Given the description of an element on the screen output the (x, y) to click on. 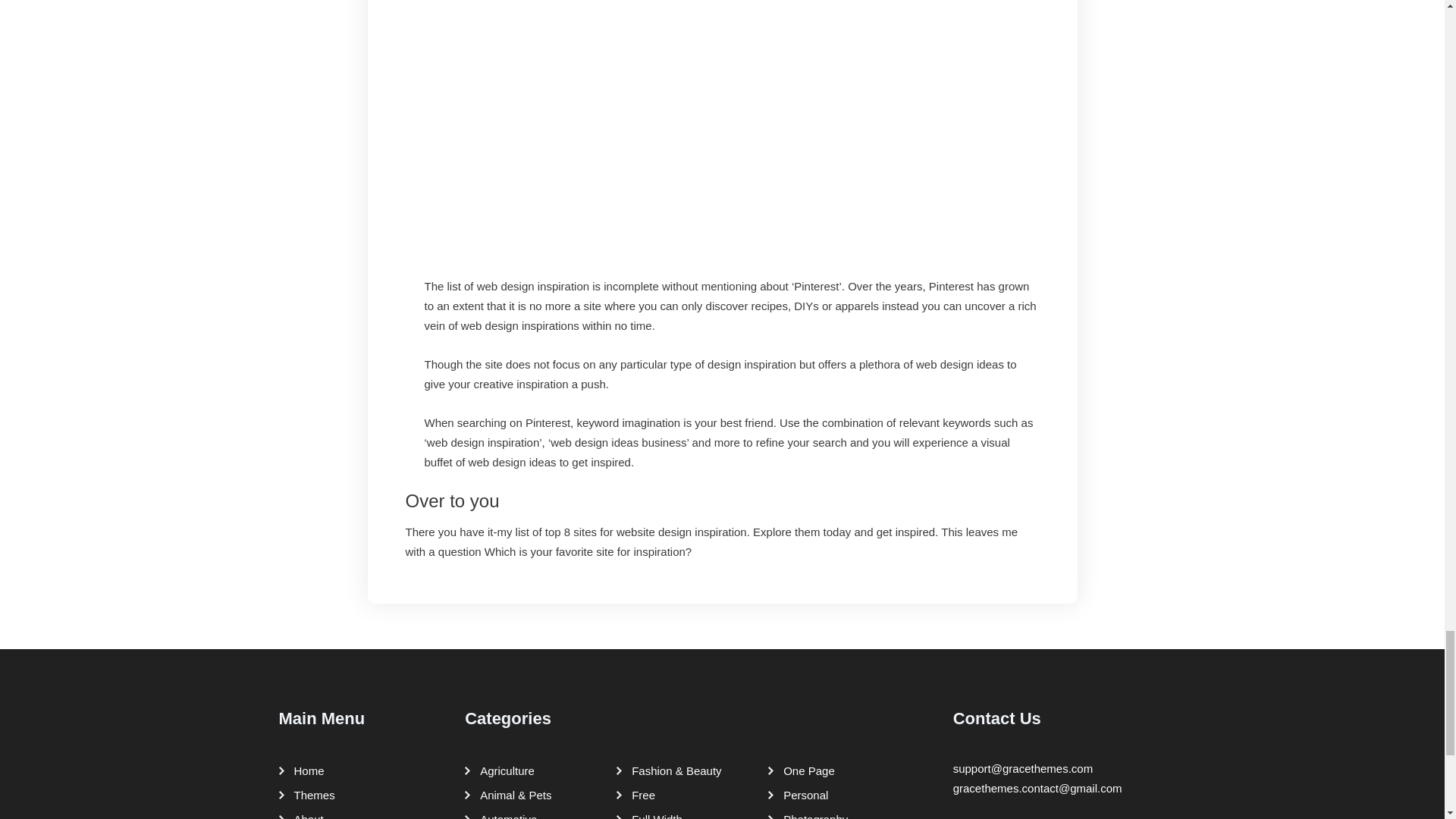
Themes (310, 794)
About (304, 813)
Home (305, 770)
